Given the description of an element on the screen output the (x, y) to click on. 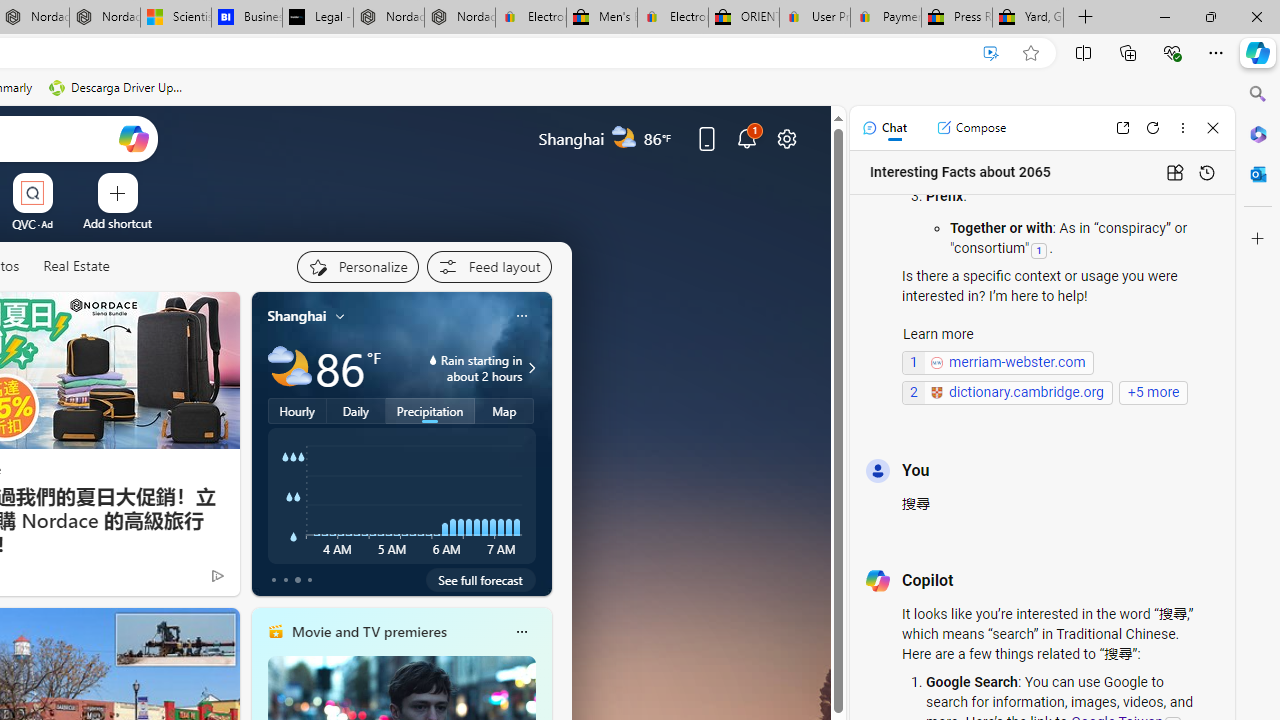
Shanghai (296, 315)
Daily (356, 411)
Compose (971, 128)
Partly cloudy (289, 368)
Precipitation (430, 411)
